Given the description of an element on the screen output the (x, y) to click on. 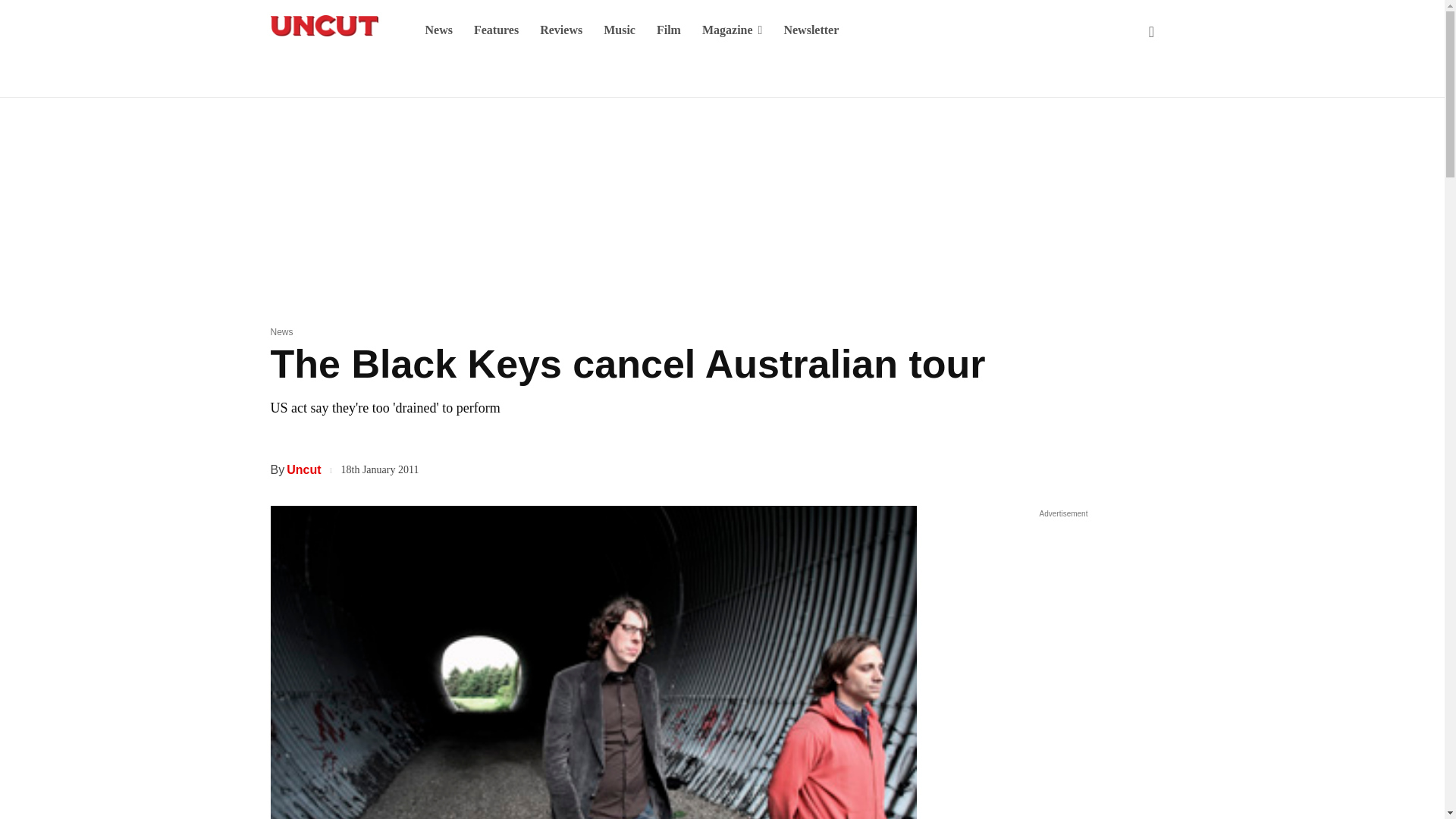
Newsletter (810, 30)
Reviews (560, 30)
View all posts in News (280, 331)
Features (496, 30)
Magazine (732, 30)
Uncut Logo (323, 25)
